Given the description of an element on the screen output the (x, y) to click on. 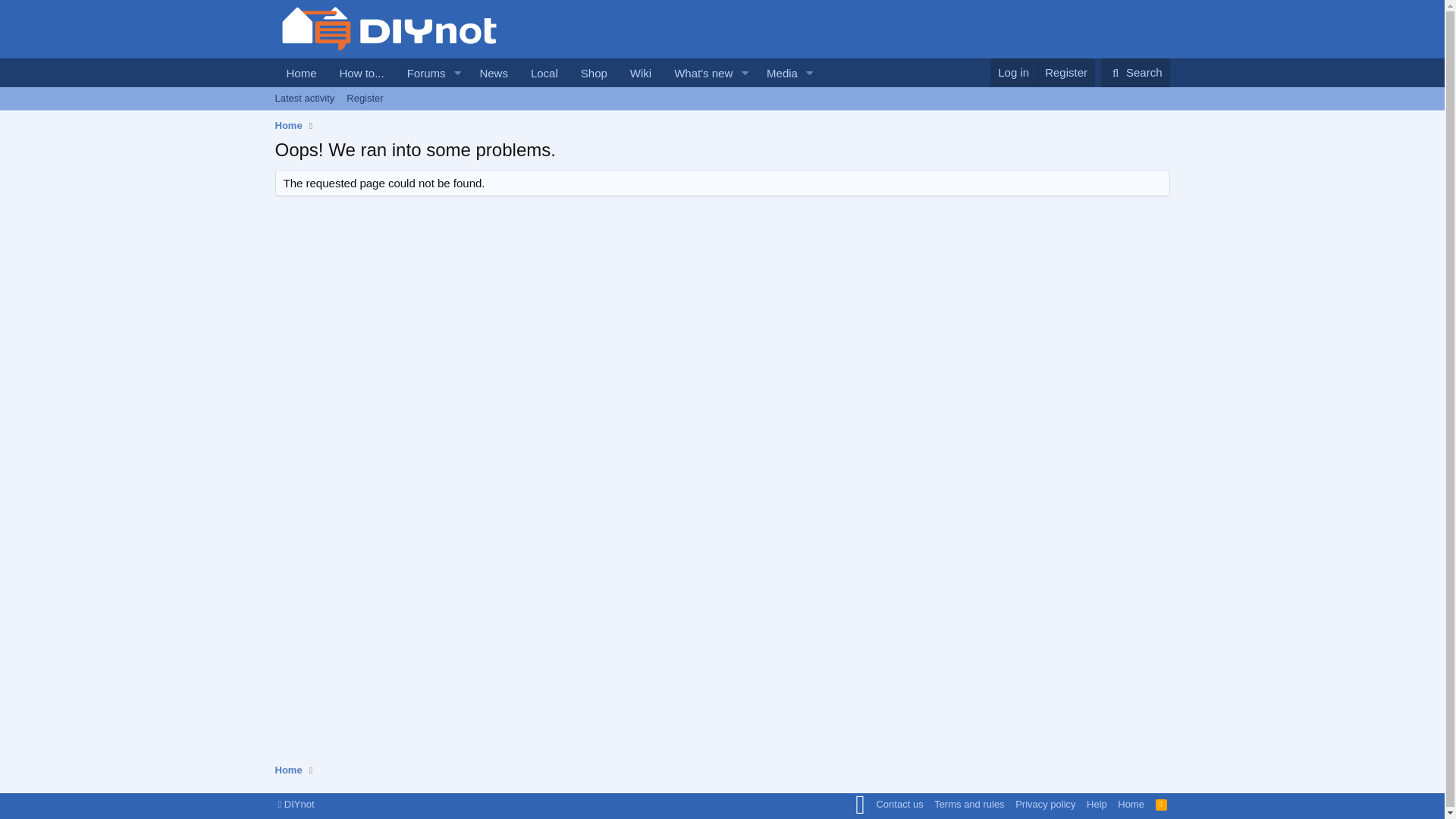
Forums (421, 72)
Log in (1013, 72)
Latest activity (303, 97)
Local (544, 72)
How to... (362, 72)
Search (546, 89)
Media (1135, 72)
Register (777, 72)
Register (720, 115)
Shop (364, 97)
News (1065, 72)
Wiki (593, 72)
